Given the description of an element on the screen output the (x, y) to click on. 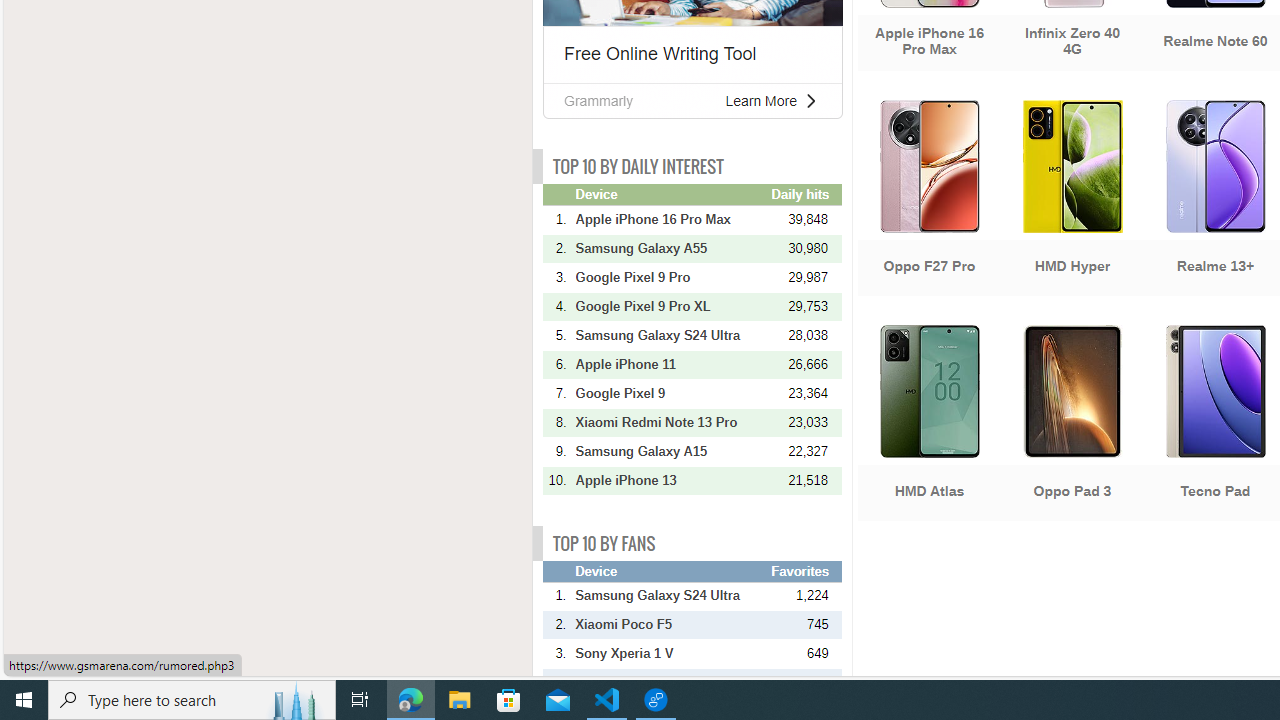
Google Pixel 9 Pro (671, 277)
Apple iPhone 15 Pro Max (671, 682)
Apple iPhone 13 (671, 480)
HMD Atlas (928, 425)
Class: ns-pn808-e-23 flip-on-rtl (809, 100)
Oppo F27 Pro (928, 200)
HMD Hyper (1072, 200)
Samsung Galaxy S24 Ultra (671, 595)
Class: ns-pn808-e-22 (809, 100)
Oppo Pad 3 (1072, 425)
Free Online Writing Tool (659, 53)
Learn More (760, 100)
